Given the description of an element on the screen output the (x, y) to click on. 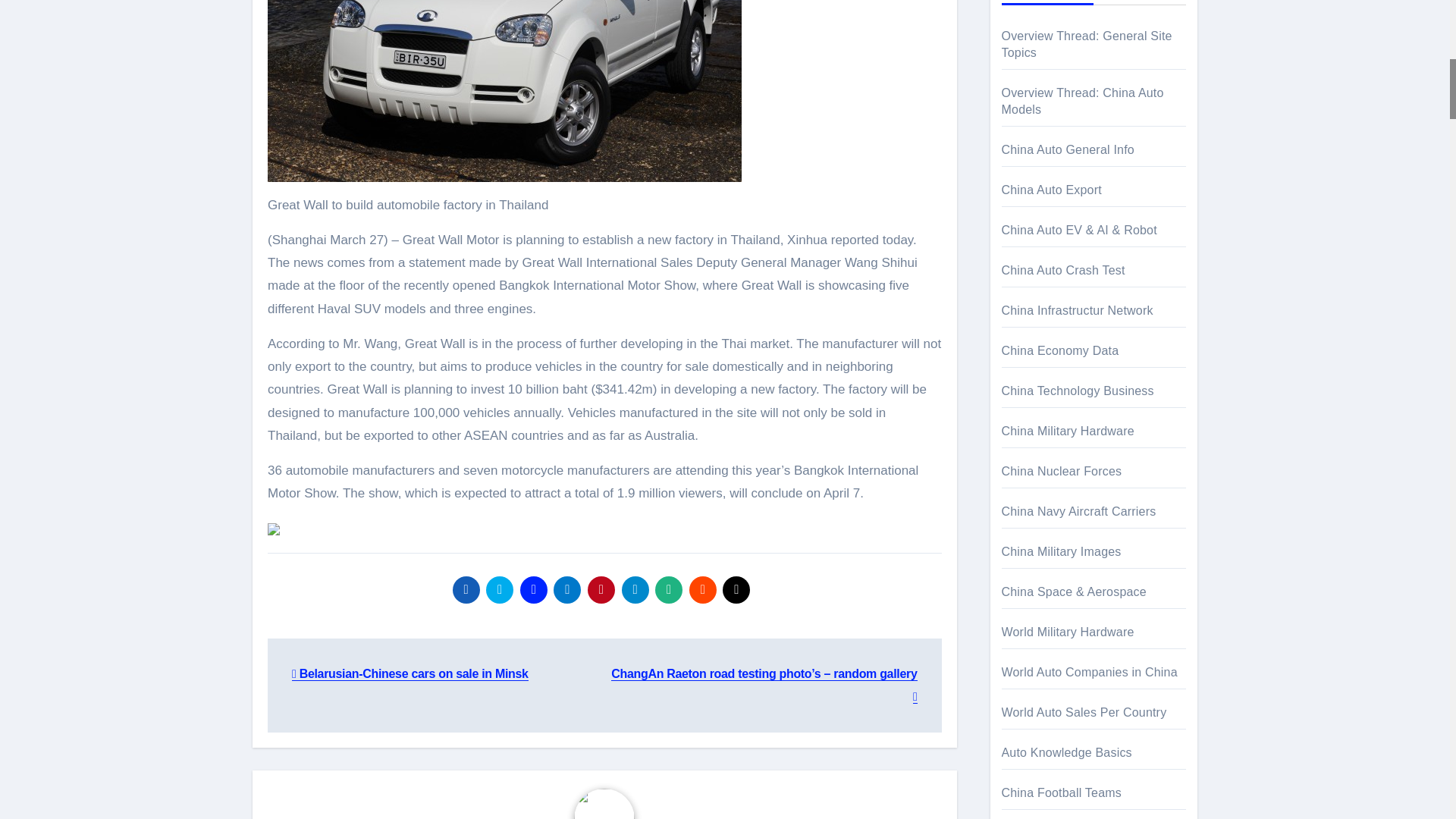
Belarusian-Chinese cars on sale in Minsk (410, 673)
